Given the description of an element on the screen output the (x, y) to click on. 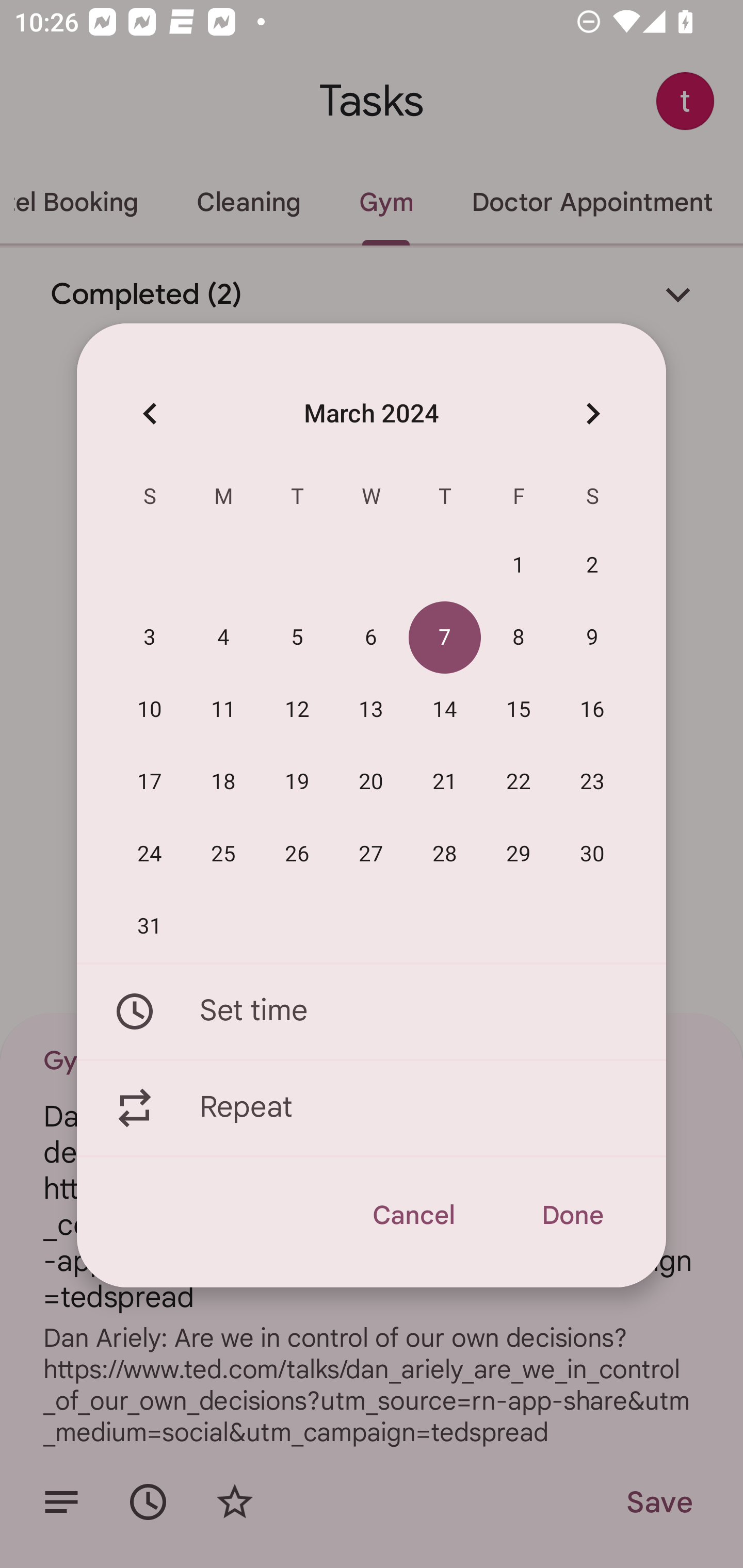
Previous month (149, 413)
Next month (592, 413)
1 01 March 2024 (518, 565)
2 02 March 2024 (592, 565)
3 03 March 2024 (149, 638)
4 04 March 2024 (223, 638)
5 05 March 2024 (297, 638)
6 06 March 2024 (370, 638)
7 07 March 2024 (444, 638)
8 08 March 2024 (518, 638)
9 09 March 2024 (592, 638)
10 10 March 2024 (149, 710)
11 11 March 2024 (223, 710)
12 12 March 2024 (297, 710)
13 13 March 2024 (370, 710)
14 14 March 2024 (444, 710)
15 15 March 2024 (518, 710)
16 16 March 2024 (592, 710)
17 17 March 2024 (149, 782)
18 18 March 2024 (223, 782)
19 19 March 2024 (297, 782)
20 20 March 2024 (370, 782)
21 21 March 2024 (444, 782)
22 22 March 2024 (518, 782)
23 23 March 2024 (592, 782)
24 24 March 2024 (149, 854)
25 25 March 2024 (223, 854)
26 26 March 2024 (297, 854)
27 27 March 2024 (370, 854)
28 28 March 2024 (444, 854)
29 29 March 2024 (518, 854)
30 30 March 2024 (592, 854)
31 31 March 2024 (149, 926)
Set time (371, 1011)
Repeat (371, 1108)
Cancel (412, 1215)
Done (571, 1215)
